Given the description of an element on the screen output the (x, y) to click on. 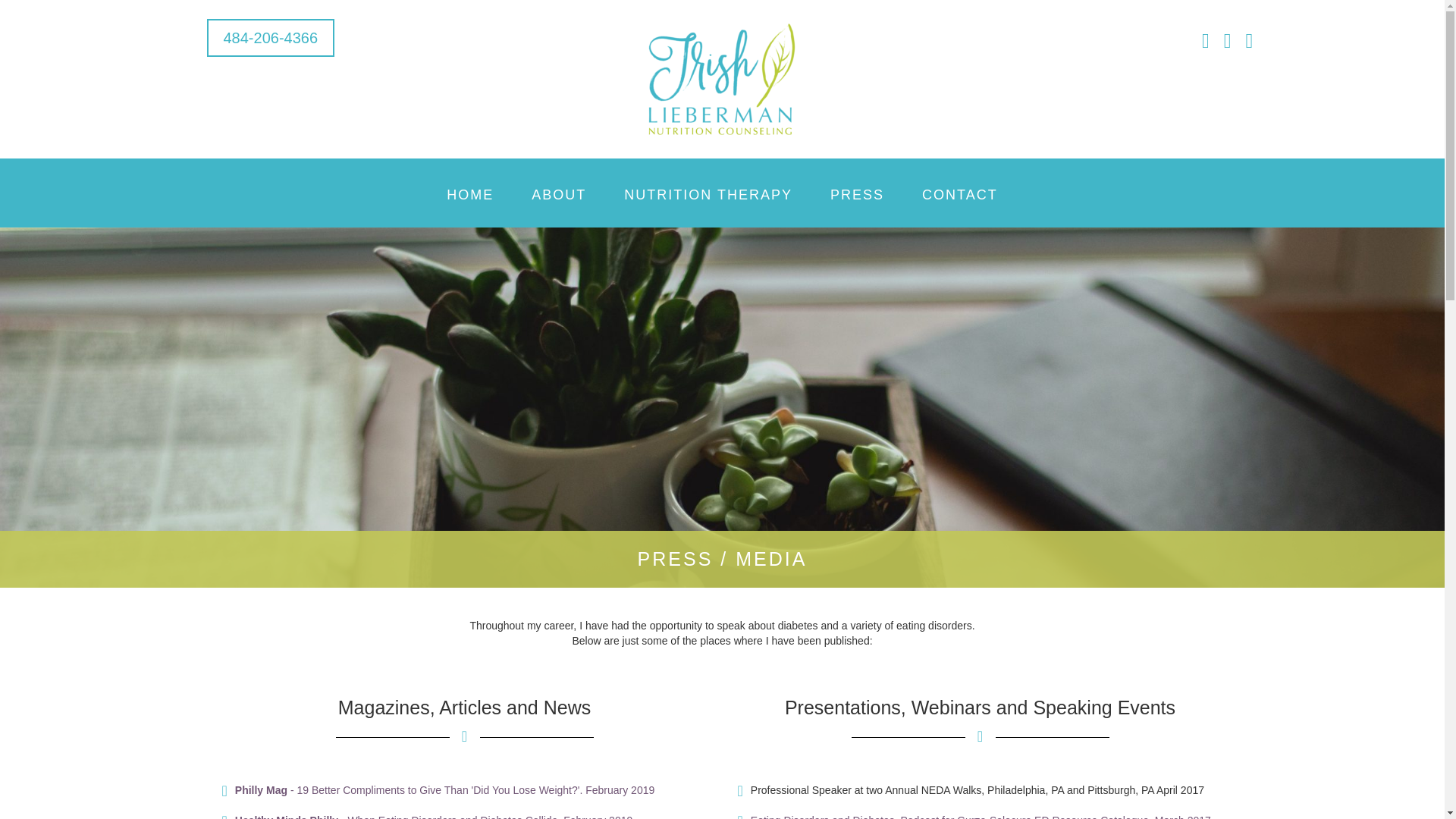
NUTRITION THERAPY (708, 194)
ABOUT (558, 194)
Trish Lieberman (721, 78)
484-206-4366 (270, 37)
CONTACT (959, 194)
HOME (469, 194)
PRESS (856, 194)
